Given the description of an element on the screen output the (x, y) to click on. 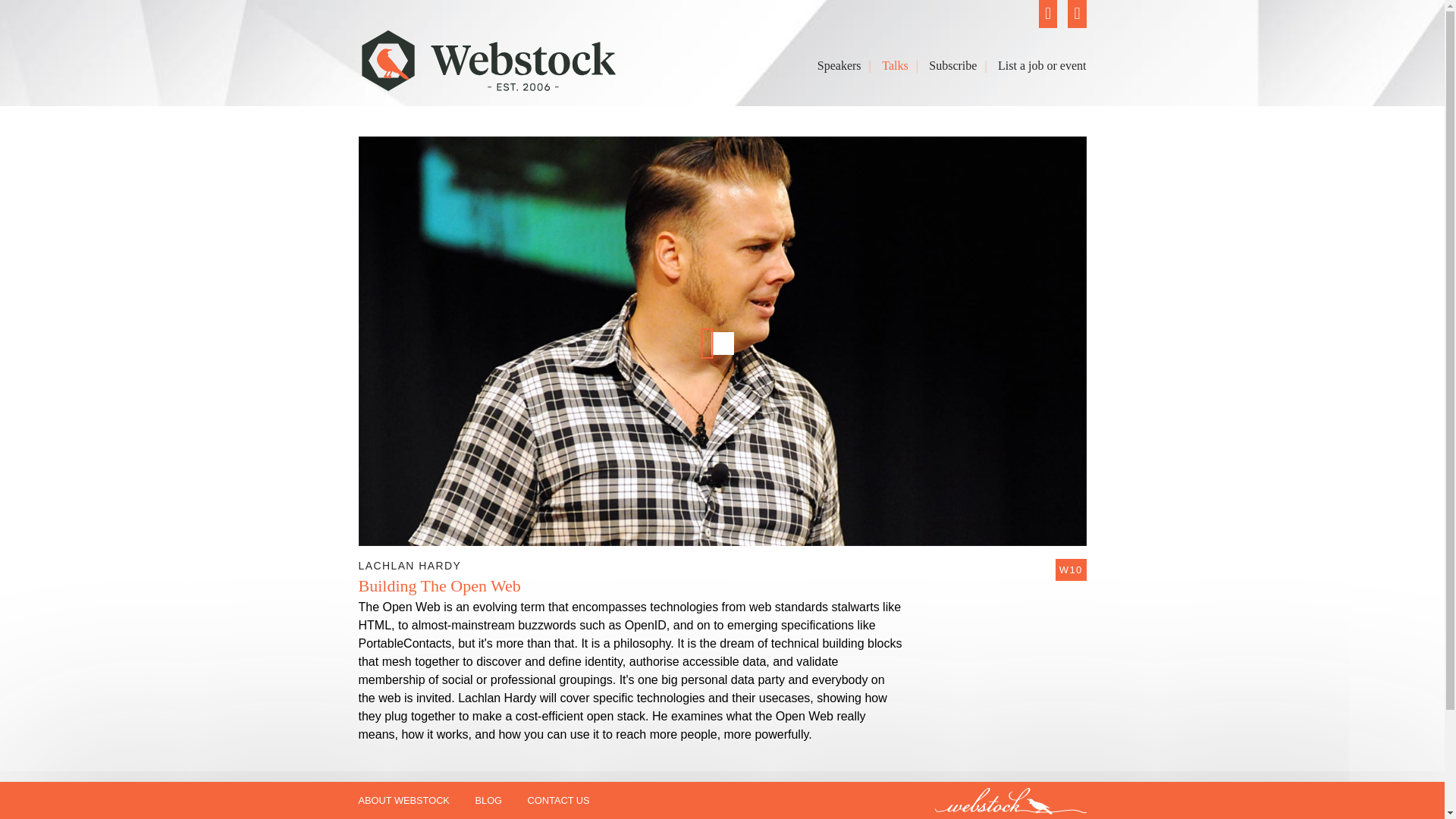
LACHLAN HARDY (409, 565)
CONTACT US (558, 800)
Speakers (838, 66)
ABOUT WEBSTOCK (403, 800)
List a job or event (1041, 66)
Subscribe (952, 66)
W10 (1070, 569)
Webstock (487, 83)
Webstock 10 (1070, 569)
Talks (894, 66)
Building The Open Web (438, 586)
